Given the description of an element on the screen output the (x, y) to click on. 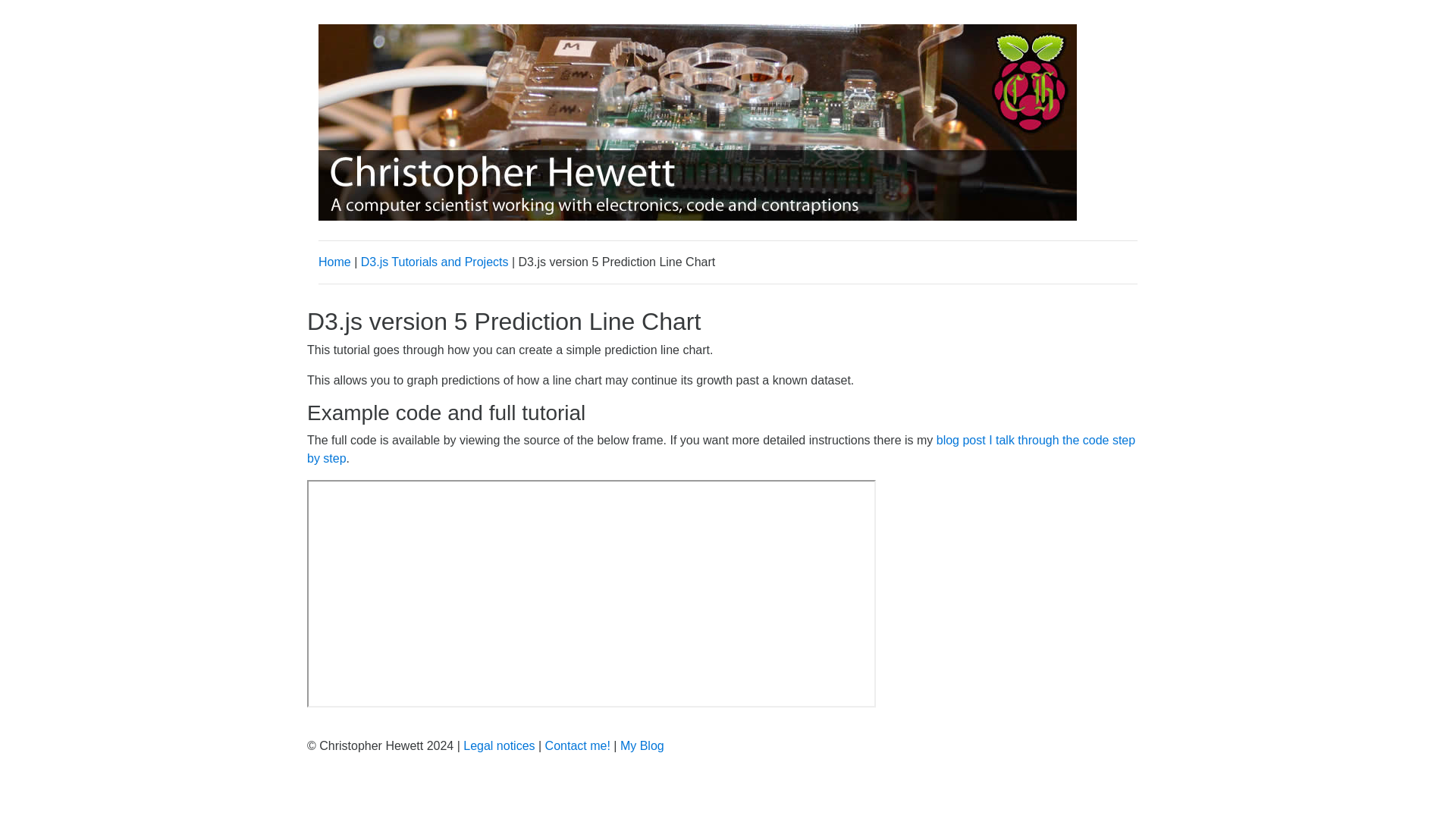
Legal notices (498, 745)
Contact me! (577, 745)
Home (334, 261)
D3.js Tutorials and Projects (434, 261)
My Blog (641, 745)
blog post I talk through the code step by step (721, 449)
